Given the description of an element on the screen output the (x, y) to click on. 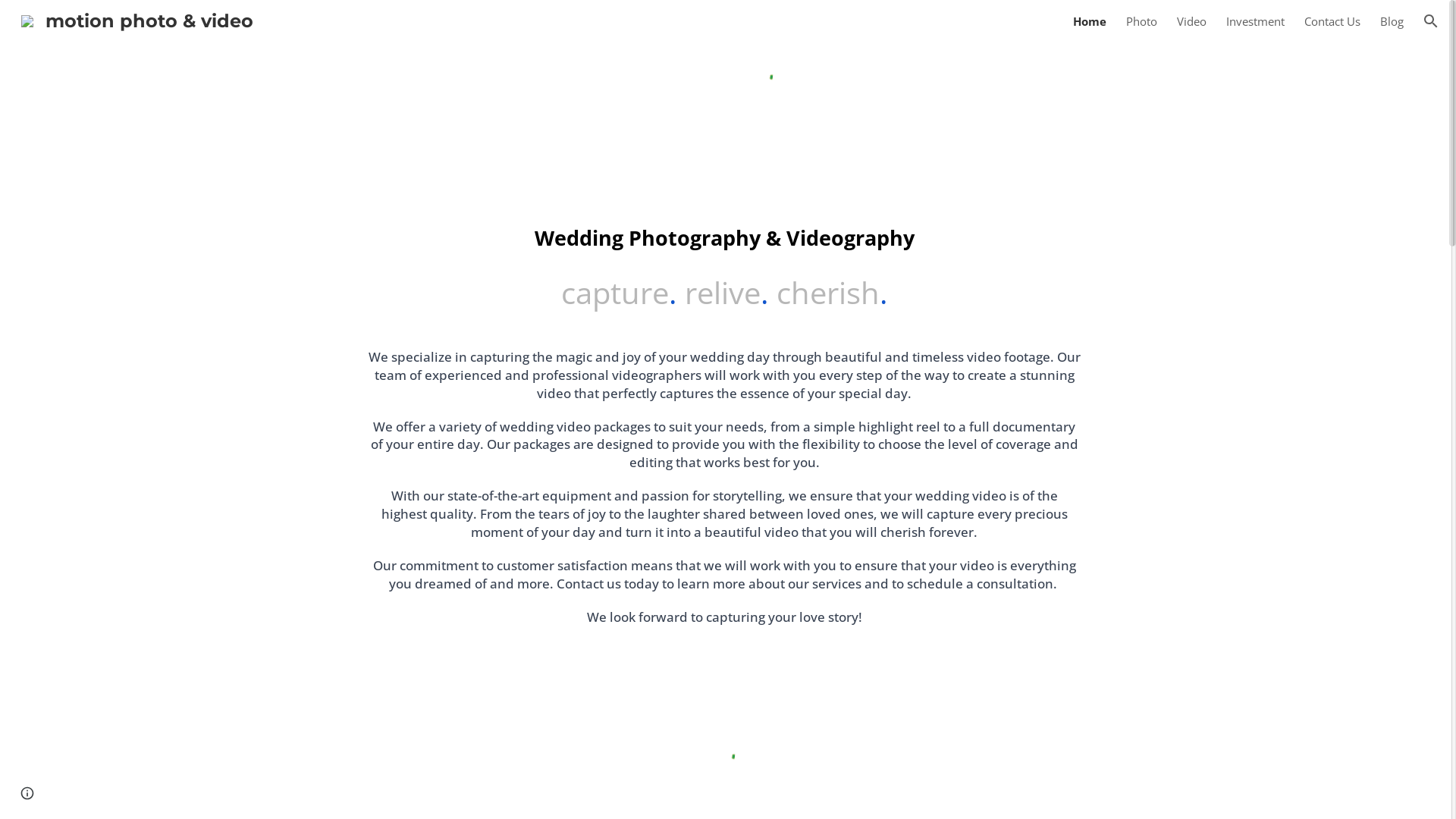
motion photo & video Element type: text (137, 19)
Investment Element type: text (1255, 20)
Photo Element type: text (1141, 20)
Blog Element type: text (1391, 20)
Custom embed Element type: hover (761, 75)
Home Element type: text (1089, 20)
Video Element type: text (1191, 20)
Contact Us Element type: text (1332, 20)
